Given the description of an element on the screen output the (x, y) to click on. 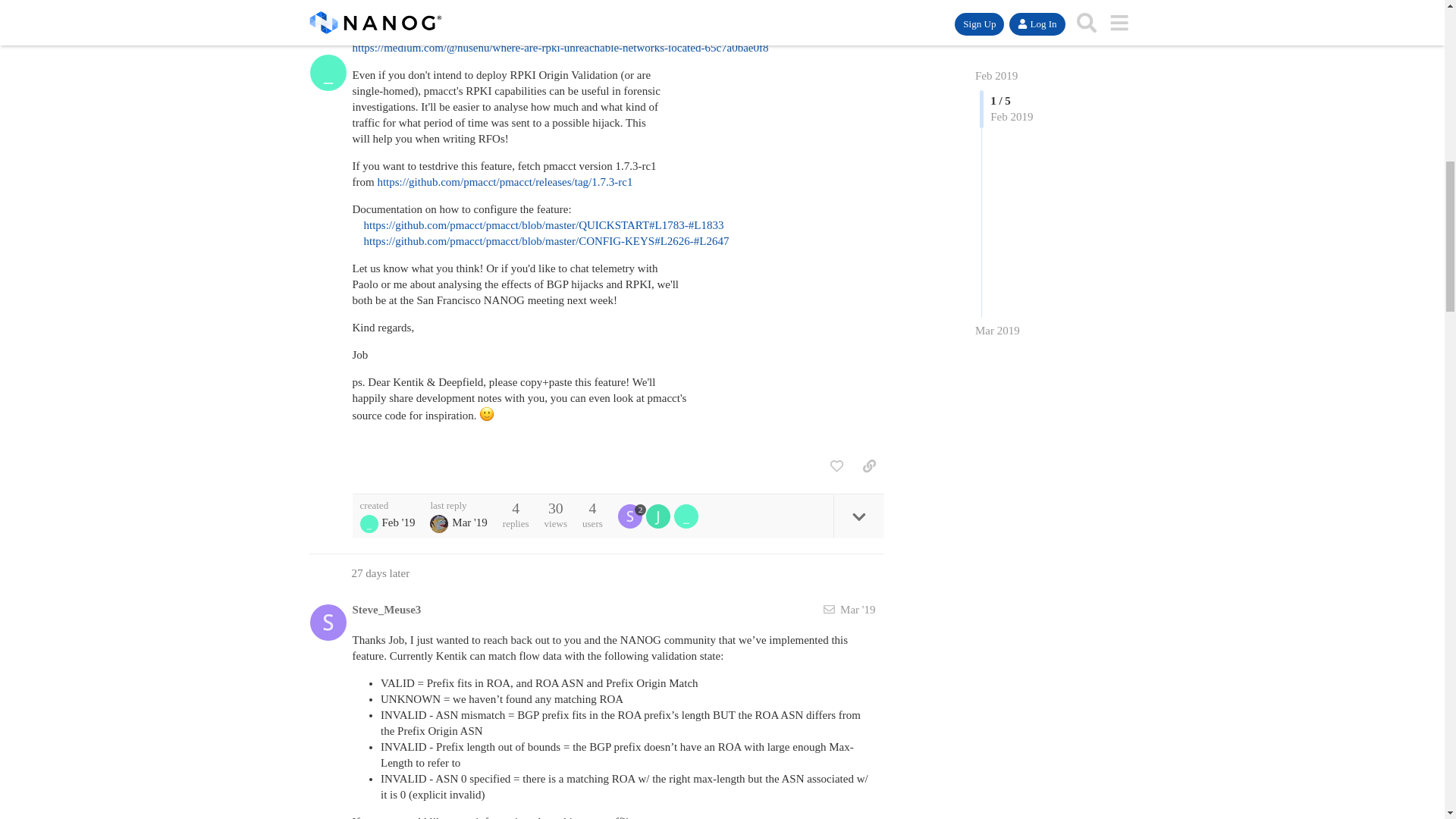
'Job Snijders' (368, 524)
Feb 13, 2019 2:15 am (397, 522)
expand topic details (857, 516)
last reply (457, 505)
Mar 14, 2019 8:43 am (468, 522)
copy a link to this post to clipboard (869, 465)
Bandy Rush (438, 524)
Mar '19 (857, 609)
2 (631, 516)
Please sign up or log in to like this post (836, 465)
